Given the description of an element on the screen output the (x, y) to click on. 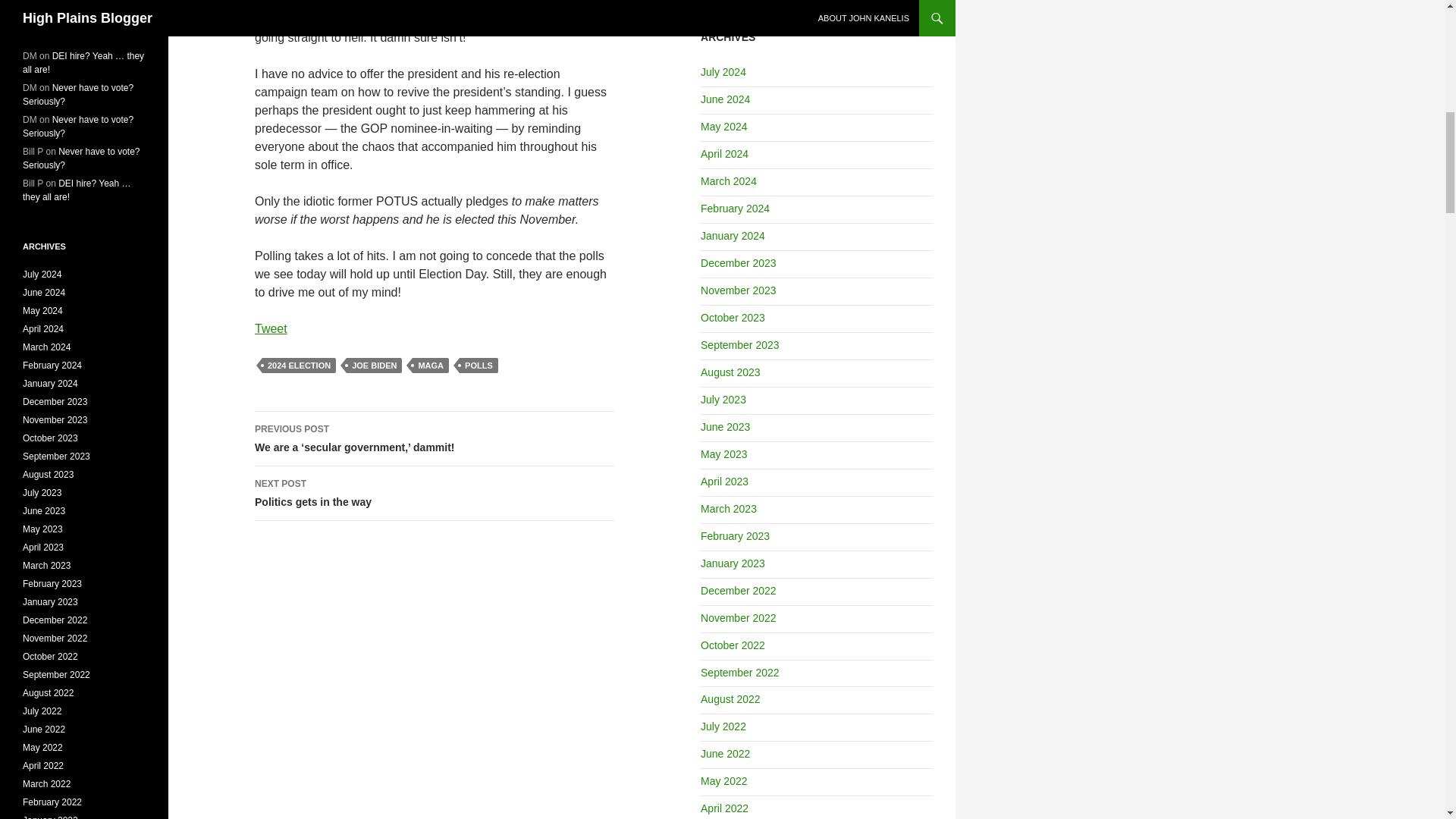
October 2023 (732, 317)
POLLS (478, 365)
February 2024 (735, 208)
December 2023 (738, 263)
June 2024 (724, 99)
JOE BIDEN (373, 365)
May 2024 (434, 493)
2024 ELECTION (723, 126)
March 2024 (299, 365)
July 2024 (728, 181)
MAGA (722, 71)
January 2024 (430, 365)
Tweet (732, 235)
November 2023 (270, 328)
